Given the description of an element on the screen output the (x, y) to click on. 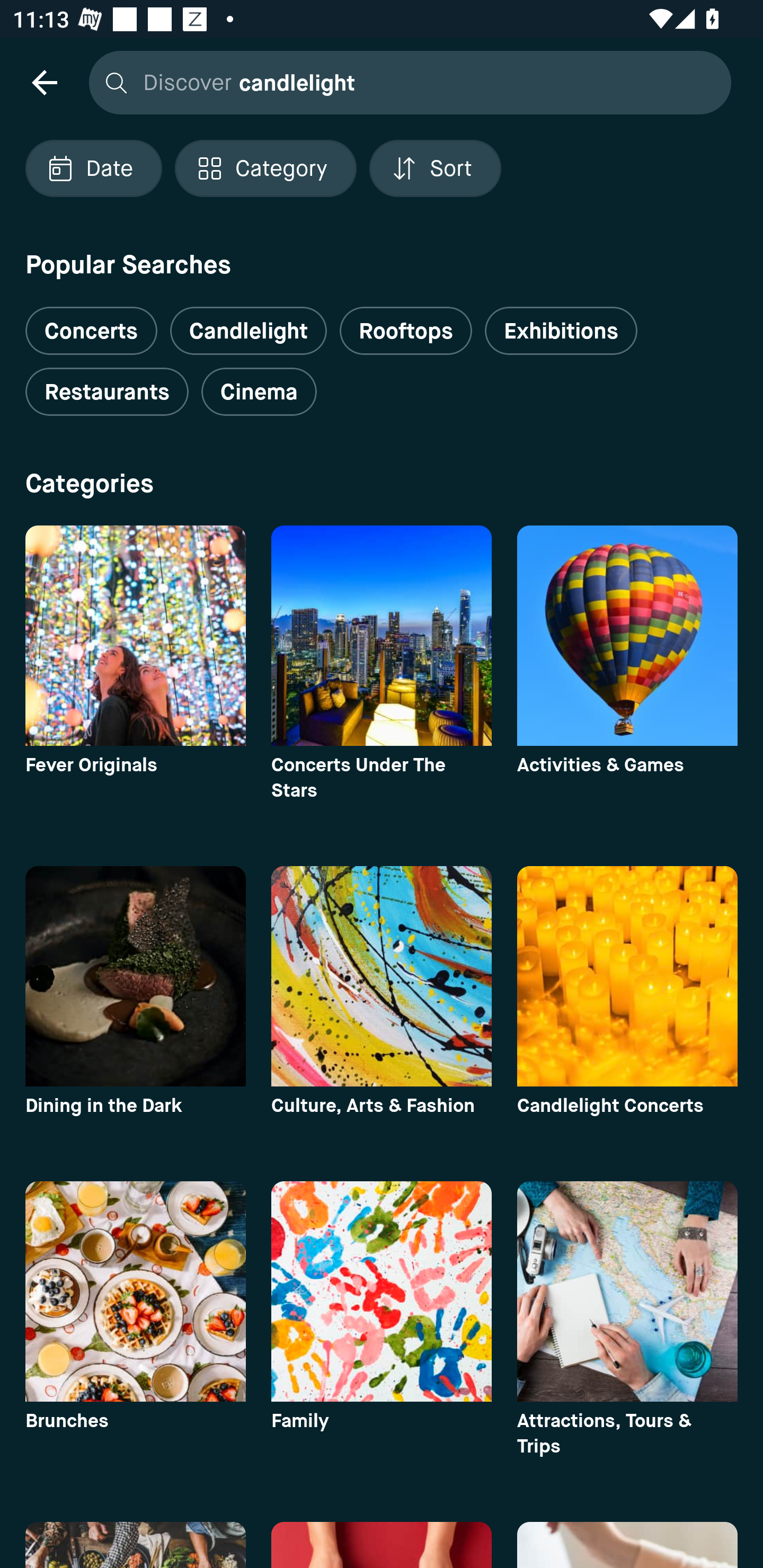
navigation icon (44, 81)
Discover candlelight (405, 81)
Localized description Date (93, 168)
Localized description Category (265, 168)
Localized description Sort (435, 168)
Concerts (91, 323)
Candlelight (248, 330)
Rooftops (405, 330)
Exhibitions (560, 330)
Restaurants (106, 391)
Cinema (258, 391)
category image (135, 635)
category image (381, 635)
category image (627, 635)
category image (135, 975)
category image (381, 975)
category image (627, 975)
category image (135, 1290)
category image (381, 1290)
category image (627, 1290)
